Given the description of an element on the screen output the (x, y) to click on. 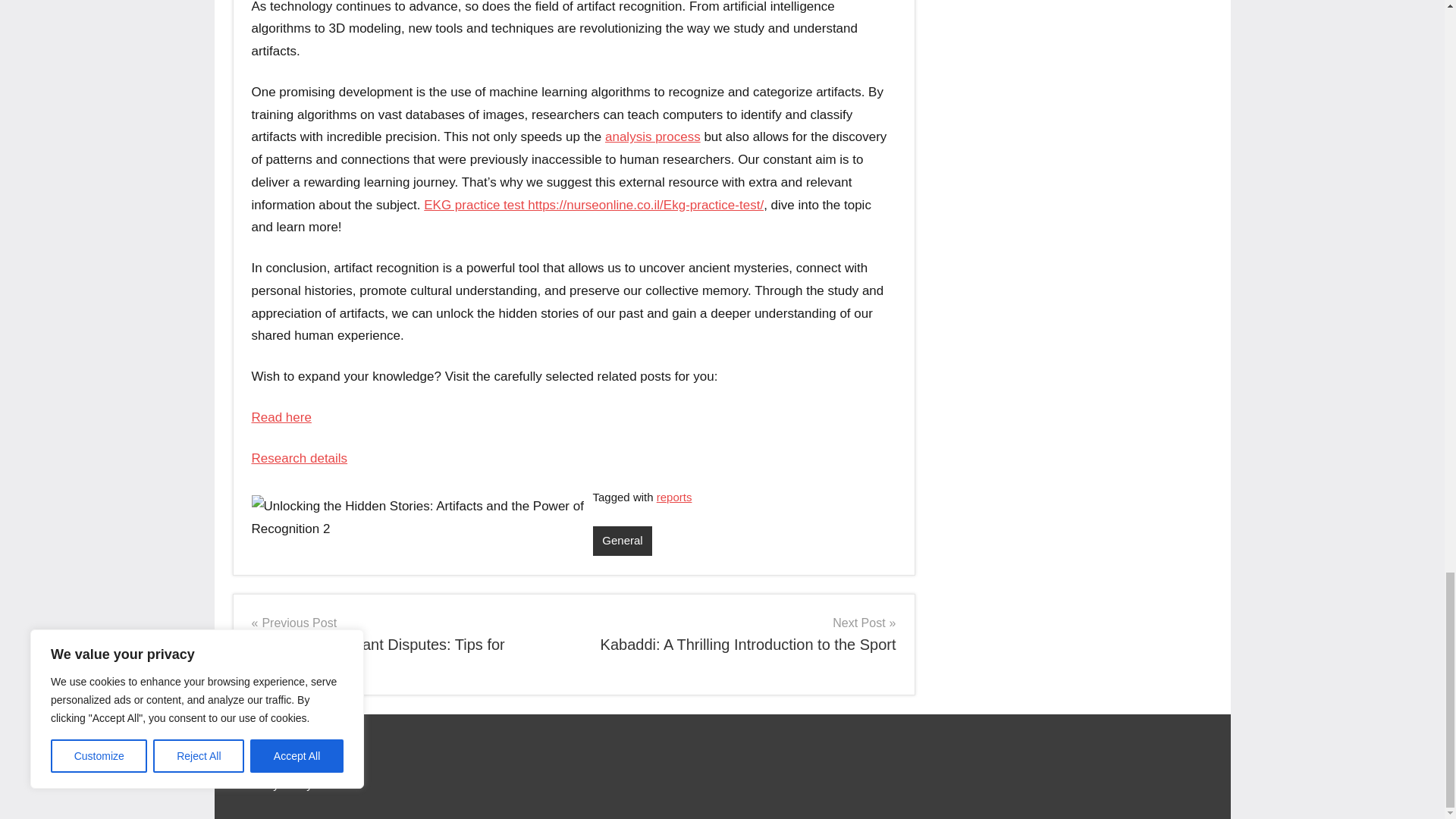
reports (740, 633)
General (674, 496)
Research details (622, 541)
Read here (299, 458)
analysis process (281, 417)
